Given the description of an element on the screen output the (x, y) to click on. 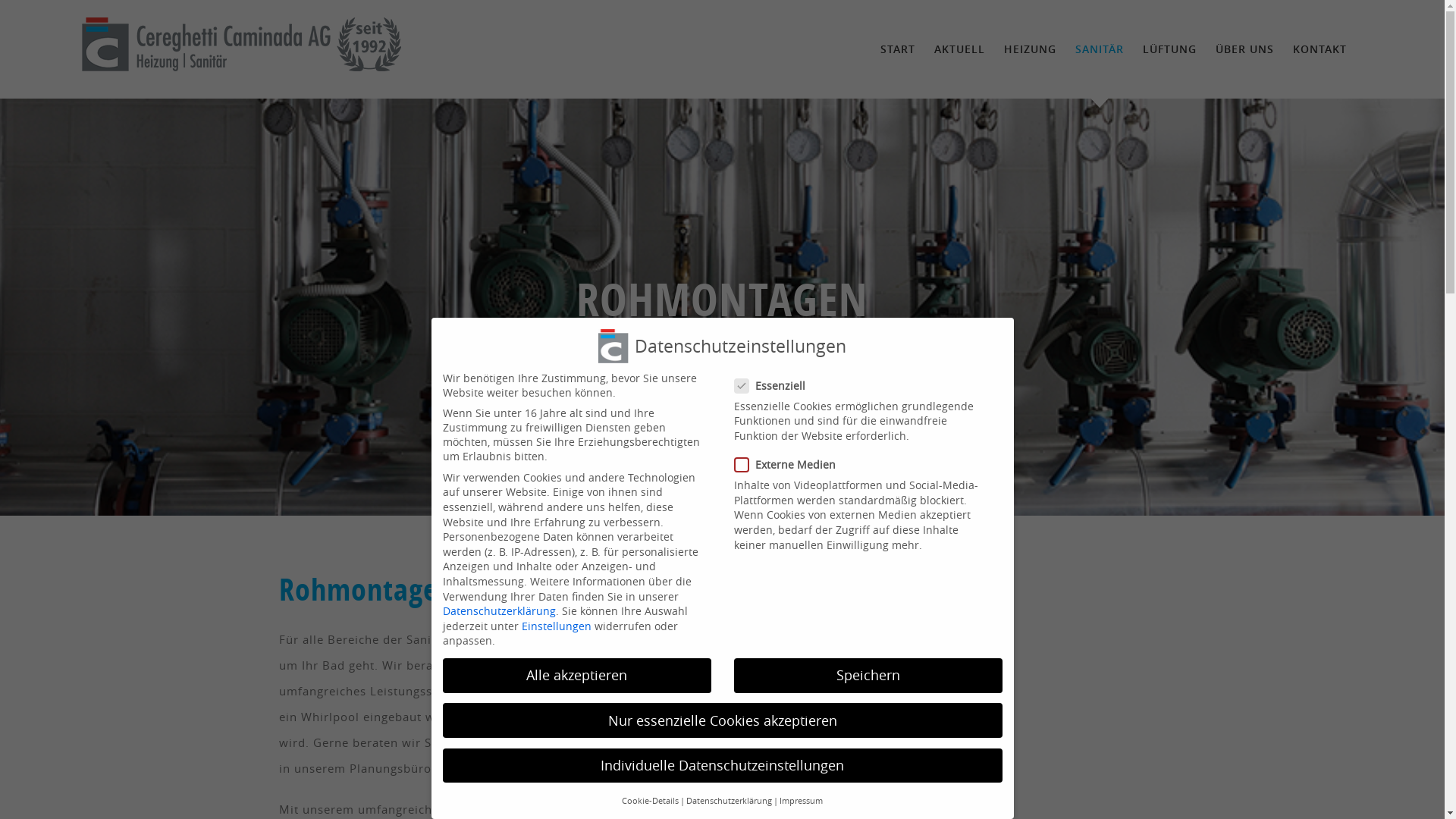
KONTAKT Element type: text (1319, 49)
Individuelle Datenschutzeinstellungen Element type: text (722, 765)
Einstellungen Element type: text (556, 625)
Cookie-Details Element type: text (649, 800)
HEIZUNG Element type: text (1030, 49)
Speichern Element type: text (868, 675)
AKTUELL Element type: text (959, 49)
START Element type: text (897, 49)
Alle akzeptieren Element type: text (576, 675)
Nur essenzielle Cookies akzeptieren Element type: text (722, 719)
Impressum Element type: text (800, 800)
